Given the description of an element on the screen output the (x, y) to click on. 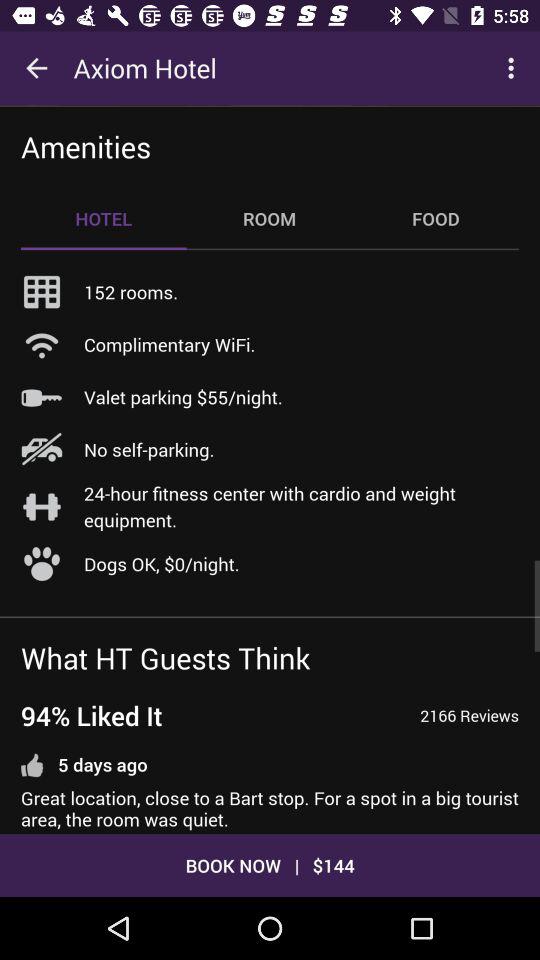
turn on the icon above the valet parking 55 (169, 344)
